Given the description of an element on the screen output the (x, y) to click on. 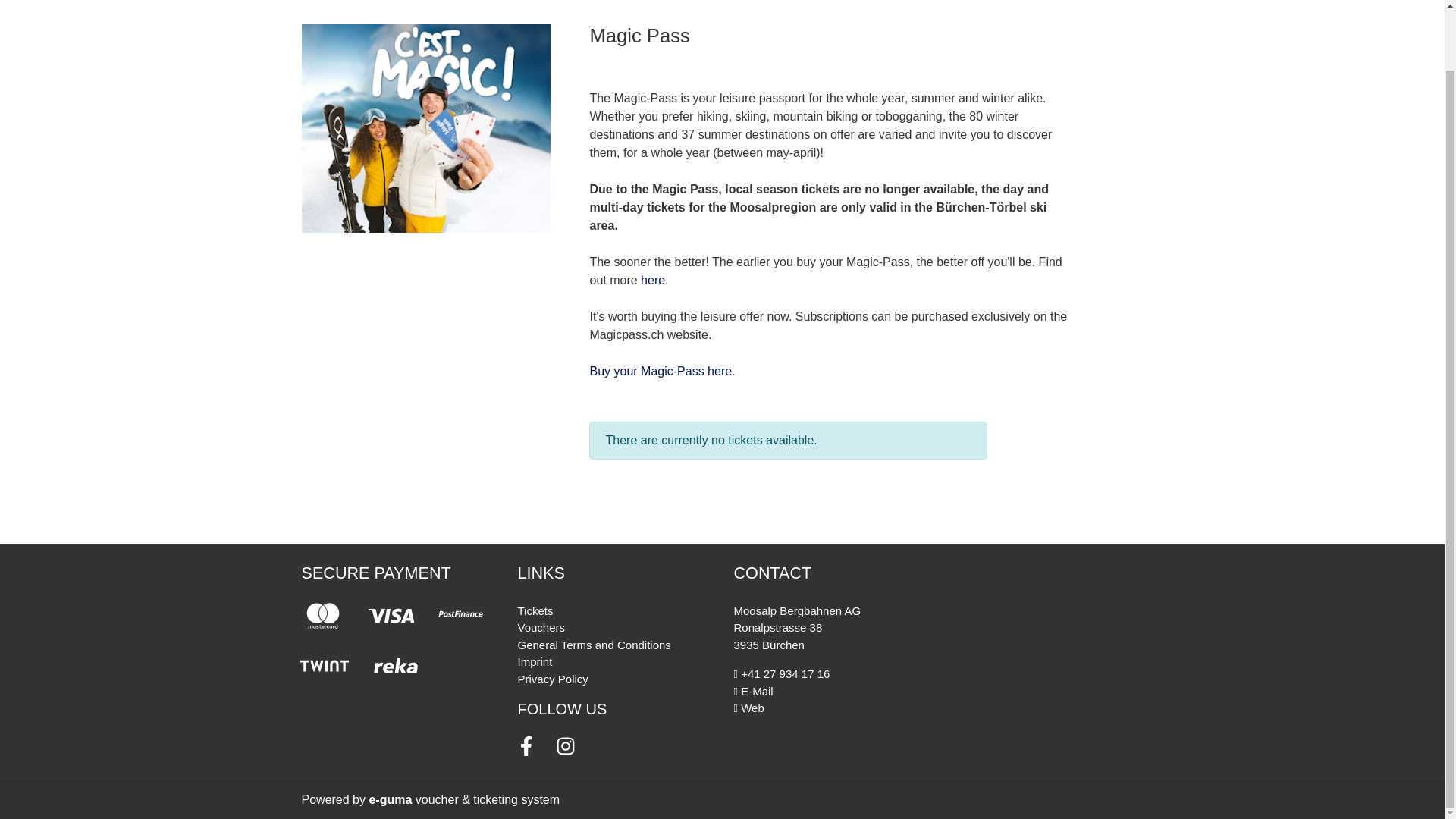
Imprint (533, 661)
here (652, 279)
Web (748, 707)
Privacy Policy (552, 678)
Vouchers (540, 626)
Instagram (564, 746)
Tickets (534, 610)
E-Mail (753, 690)
Buy your Magic-Pass here (660, 370)
General Terms and Conditions (592, 644)
Facebook (525, 746)
